Given the description of an element on the screen output the (x, y) to click on. 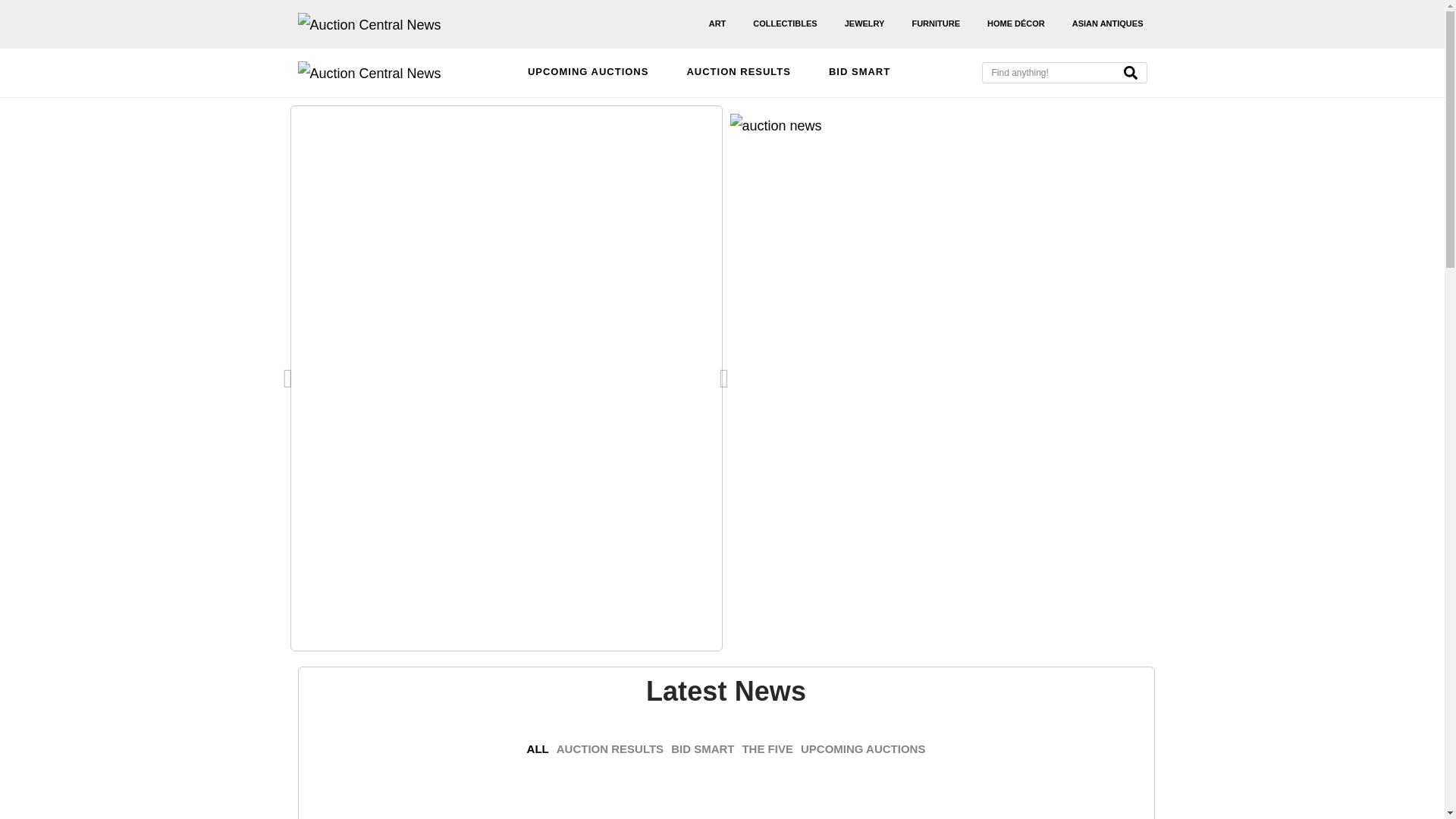
FURNITURE (935, 23)
THE FIVE (767, 749)
UPCOMING AUCTIONS (862, 749)
ASIAN ANTIQUES (1107, 23)
ALL (537, 749)
COLLECTIBLES (785, 23)
AUCTION RESULTS (738, 72)
JEWELRY (864, 23)
AUCTION RESULTS (609, 749)
BID SMART (702, 749)
